Given the description of an element on the screen output the (x, y) to click on. 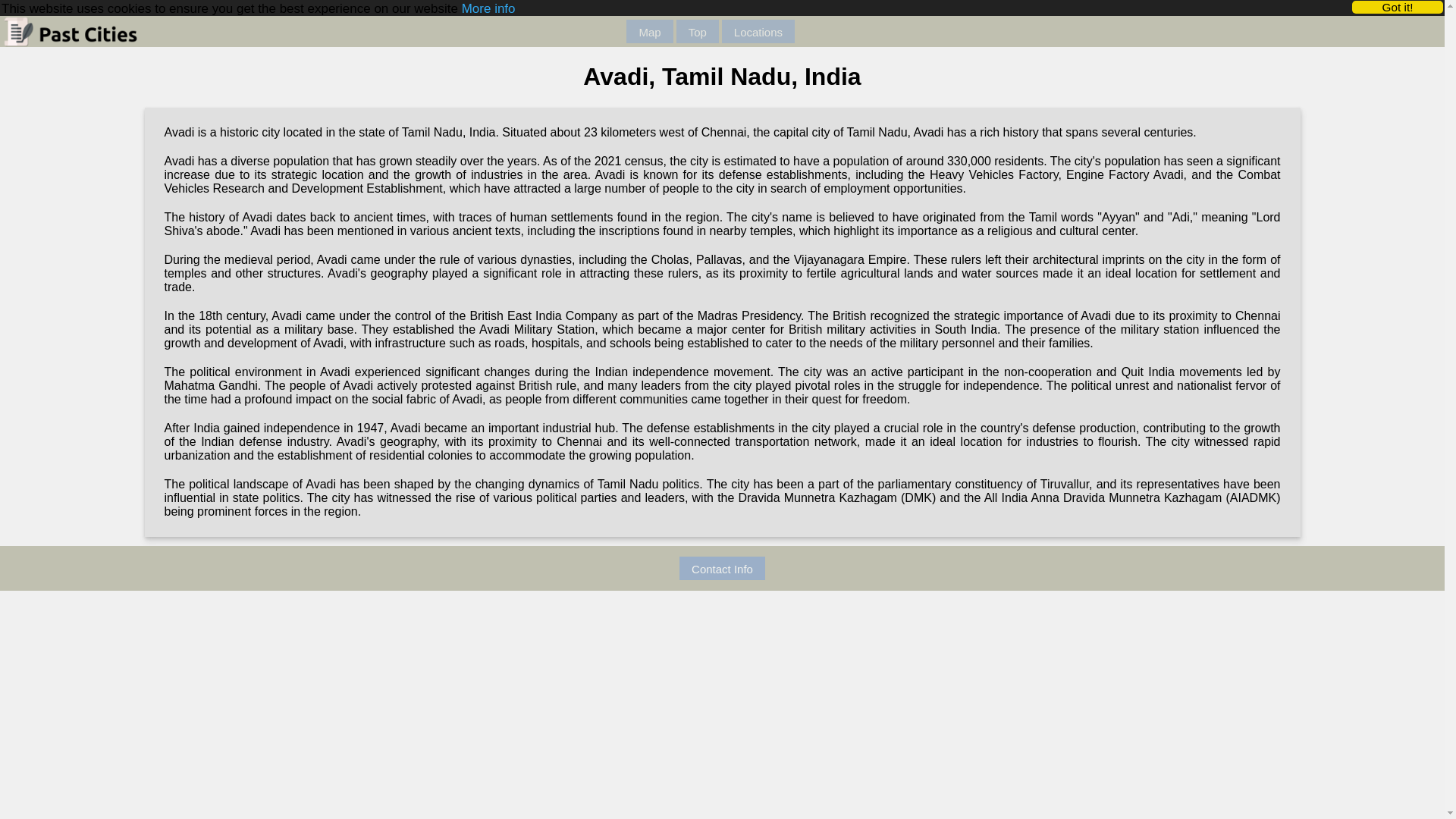
Top (698, 25)
Top (697, 22)
Contact Info (722, 567)
More info (488, 1)
Map (649, 19)
Past Cities (93, 31)
Map (649, 23)
English (809, 30)
Locations (758, 25)
Locations (758, 27)
